Given the description of an element on the screen output the (x, y) to click on. 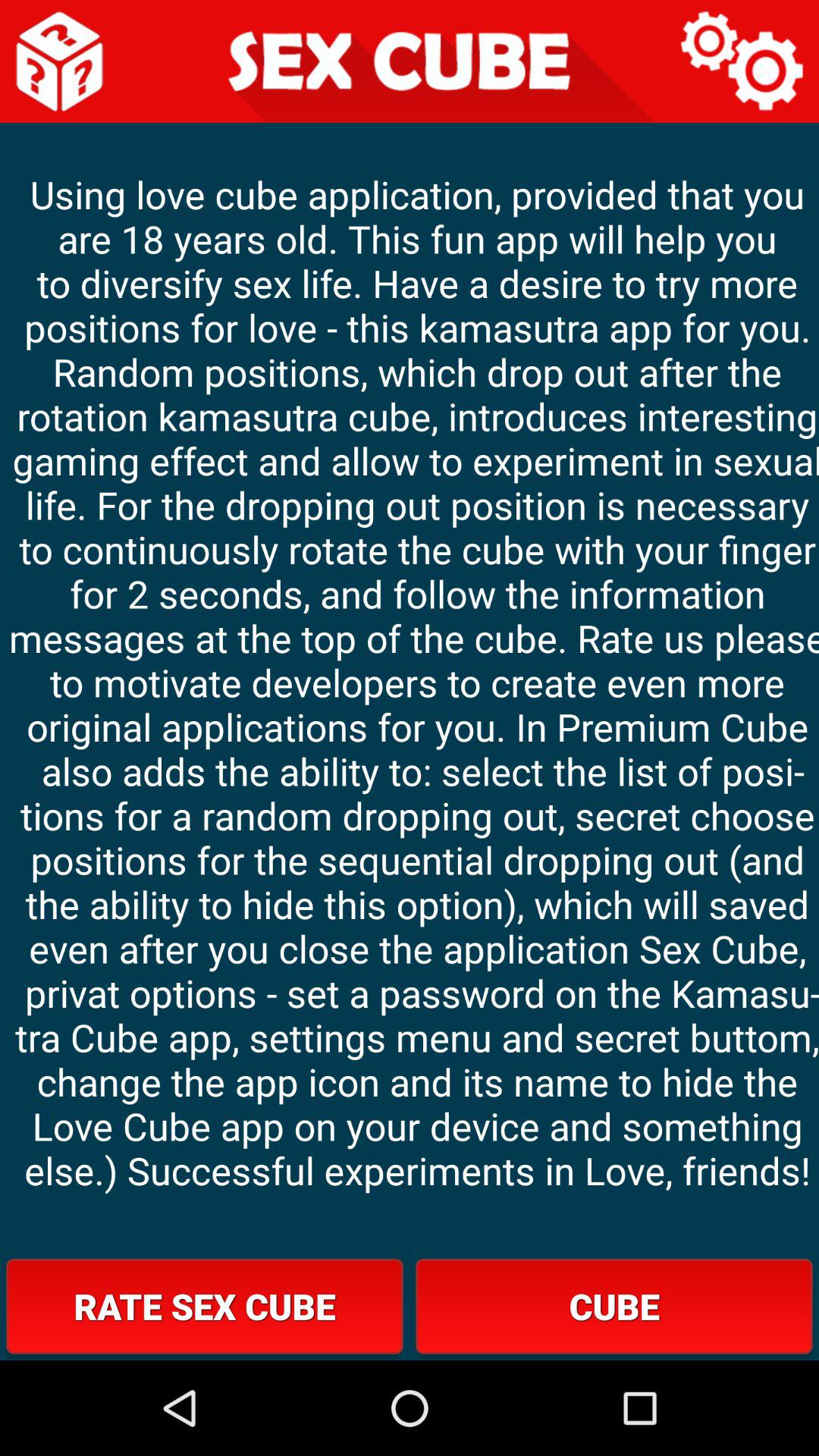
single die with question marks icon (61, 61)
